Given the description of an element on the screen output the (x, y) to click on. 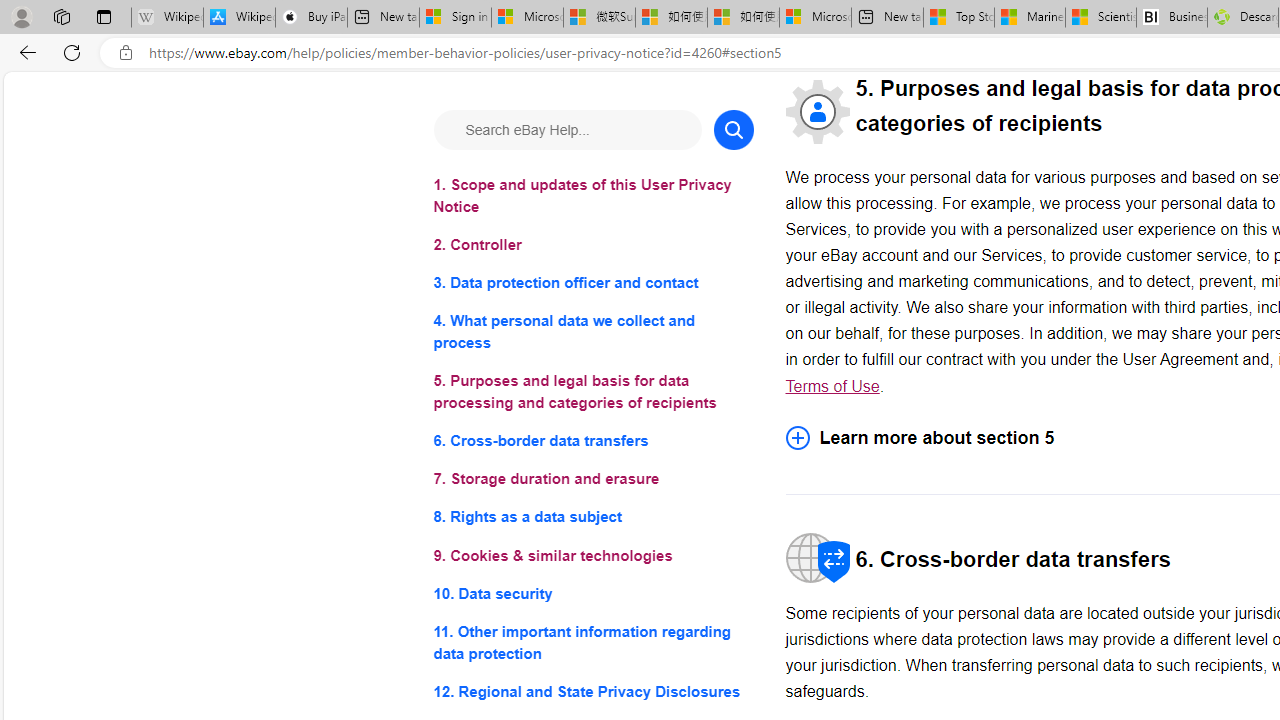
Search eBay Help... (566, 129)
7. Storage duration and erasure (592, 479)
3. Data protection officer and contact (592, 283)
Sign in to your Microsoft account (455, 17)
12. Regional and State Privacy Disclosures (592, 690)
11. Other important information regarding data protection (592, 642)
10. Data security (592, 592)
2. Controller (592, 245)
8. Rights as a data subject (592, 517)
Wikipedia - Sleeping (167, 17)
6. Cross-border data transfers (592, 440)
